Given the description of an element on the screen output the (x, y) to click on. 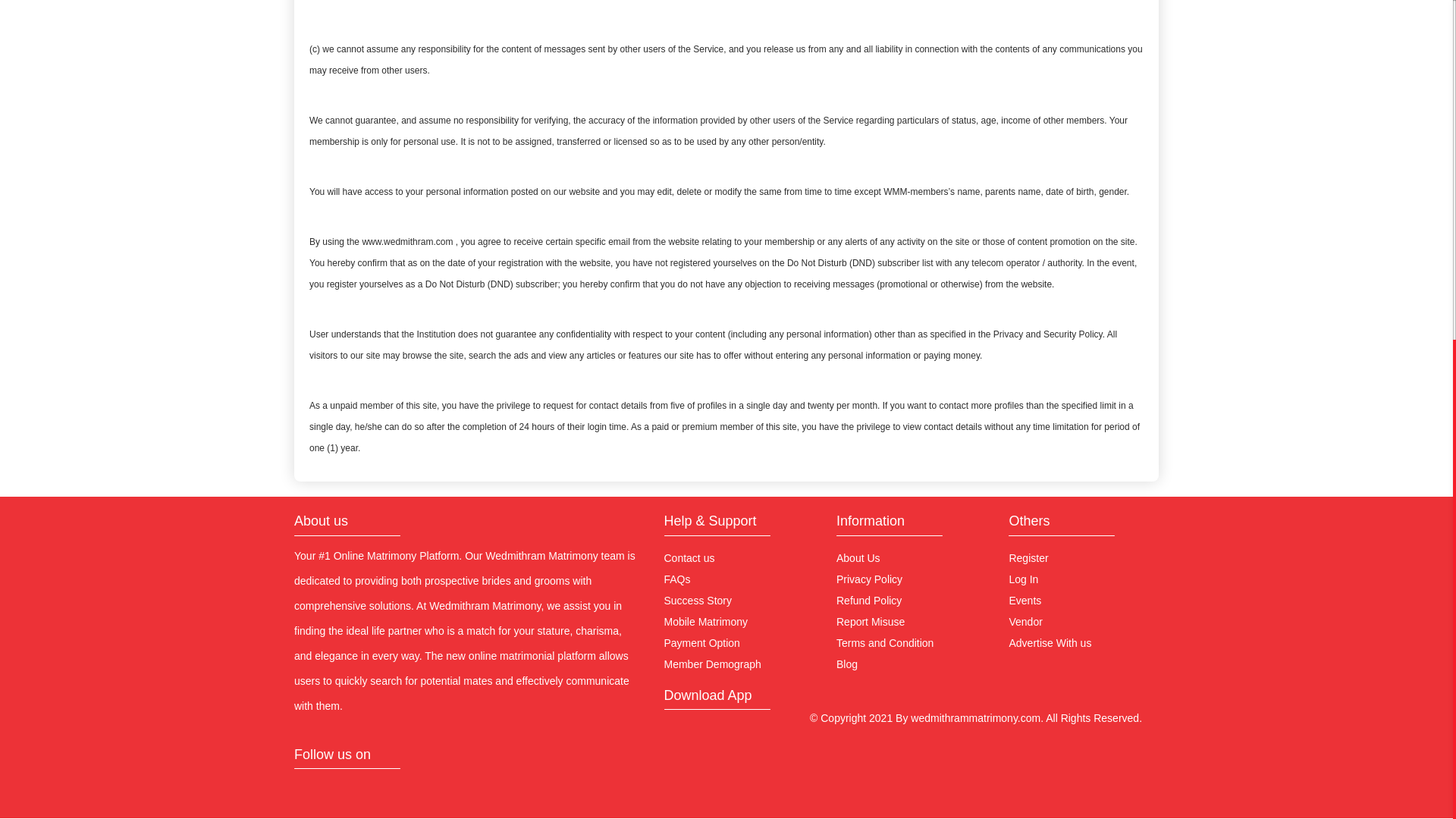
Member Demograph (712, 664)
Terms and Condition (884, 643)
Vendor (1025, 621)
Advertise With us (1049, 643)
Refund Policy (868, 600)
Events (1025, 600)
Register (1028, 558)
Payment Option (701, 643)
FAQs (676, 579)
Success Story (697, 600)
Report Misuse (869, 621)
Contact us (688, 558)
About Us (857, 558)
Log In (1023, 579)
Blog (846, 664)
